Given the description of an element on the screen output the (x, y) to click on. 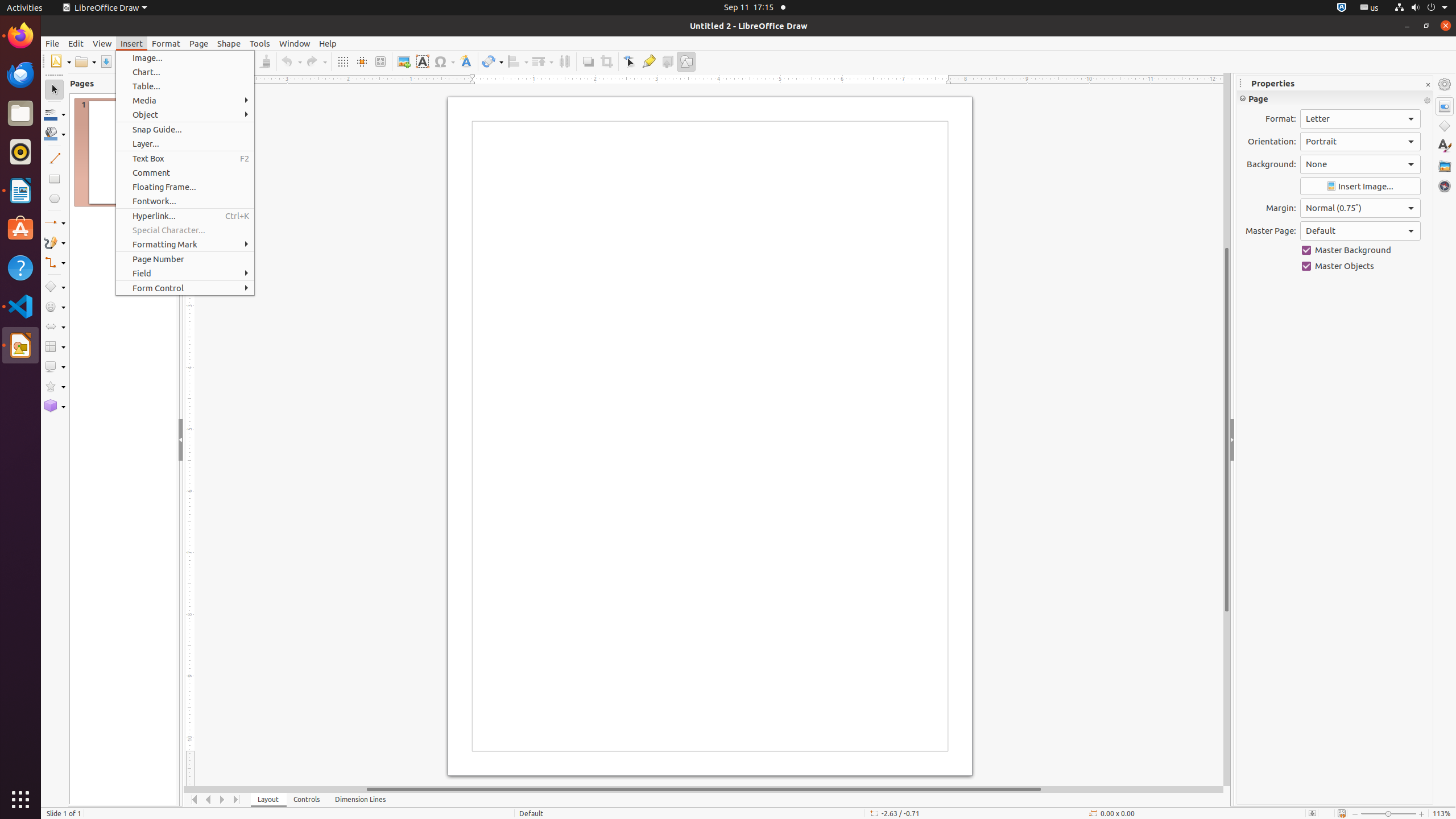
Gallery Element type: radio-button (1444, 165)
Horizontal scroll bar Element type: scroll-bar (703, 789)
Curves and Polygons Element type: push-button (54, 242)
File Element type: menu (51, 43)
Edit Element type: menu (75, 43)
